Given the description of an element on the screen output the (x, y) to click on. 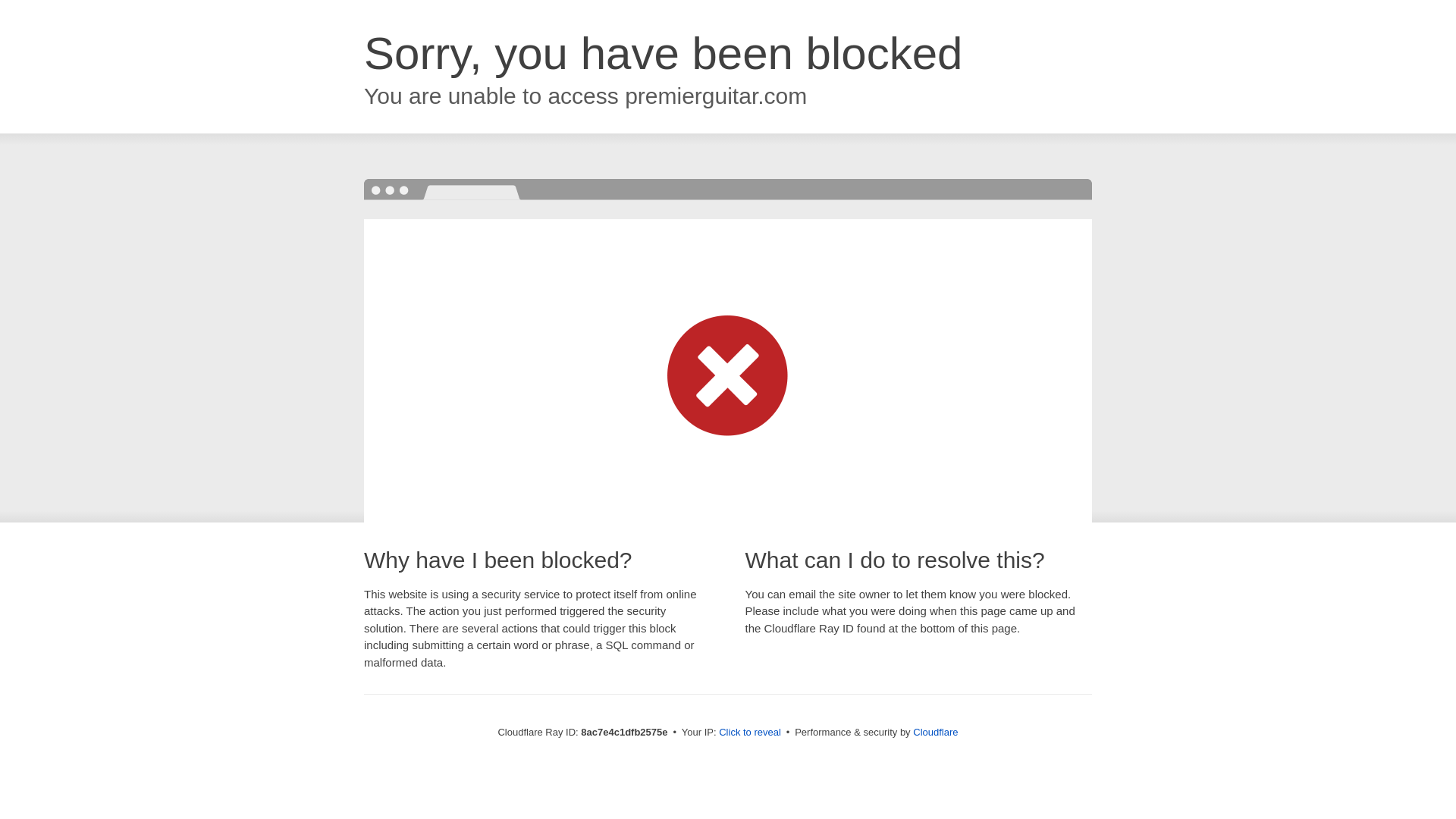
Click to reveal (749, 732)
Cloudflare (935, 731)
